Given the description of an element on the screen output the (x, y) to click on. 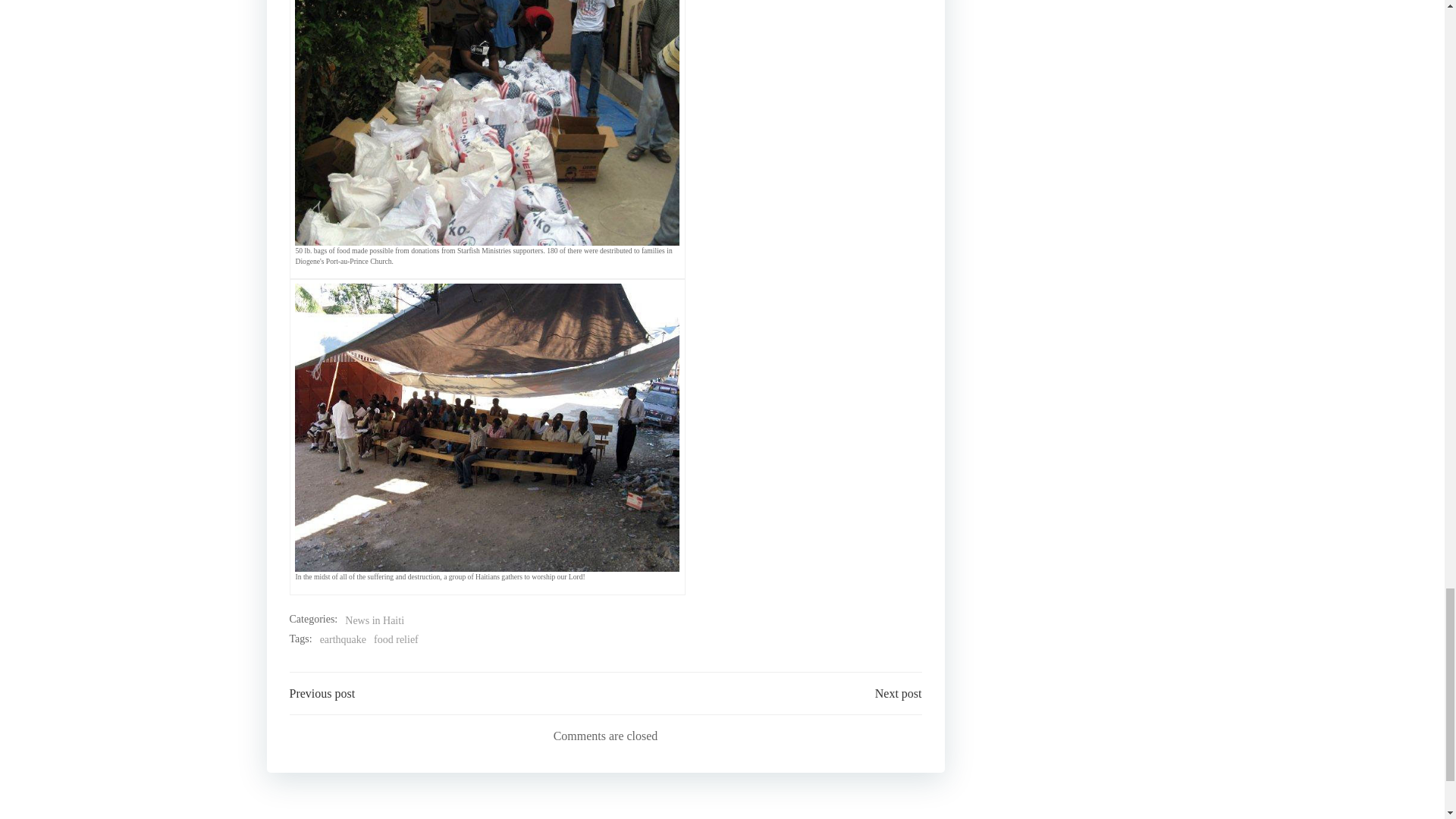
worship (486, 427)
food relief Tag (396, 639)
food relief (396, 639)
News in Haiti (374, 620)
Previous post (322, 693)
Next post (898, 693)
earthquake (343, 639)
relief2 (486, 122)
earthquake Tag (343, 639)
